Given the description of an element on the screen output the (x, y) to click on. 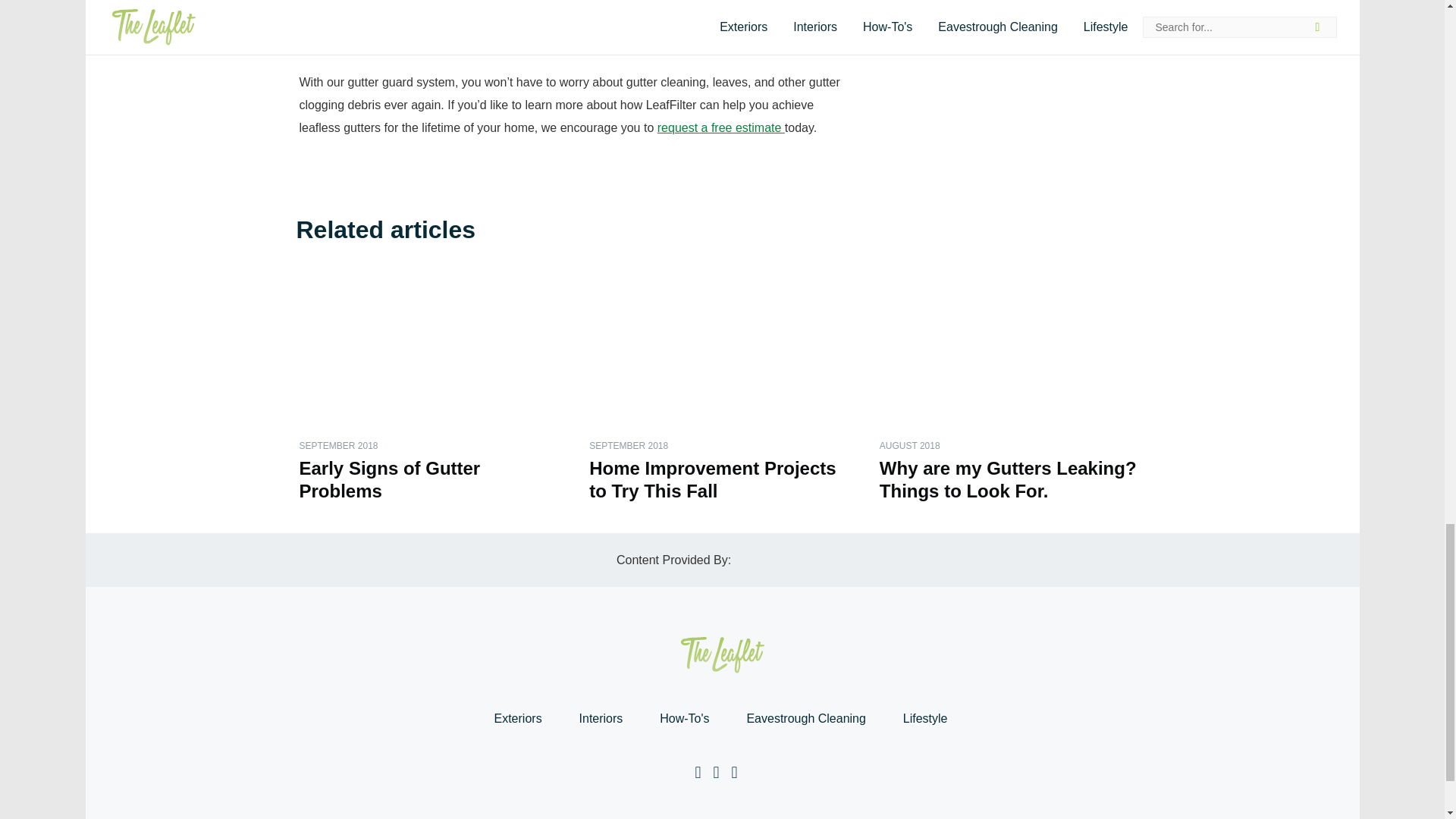
How-To's (683, 718)
Exteriors (517, 718)
Lifestyle (925, 718)
Lifestyle (925, 718)
How-To's (683, 718)
Interiors (600, 718)
Interiors (600, 718)
request a free estimate (721, 127)
Eavestrough Cleaning (805, 718)
Exteriors (517, 718)
Eavestrough Cleaning (805, 718)
